Given the description of an element on the screen output the (x, y) to click on. 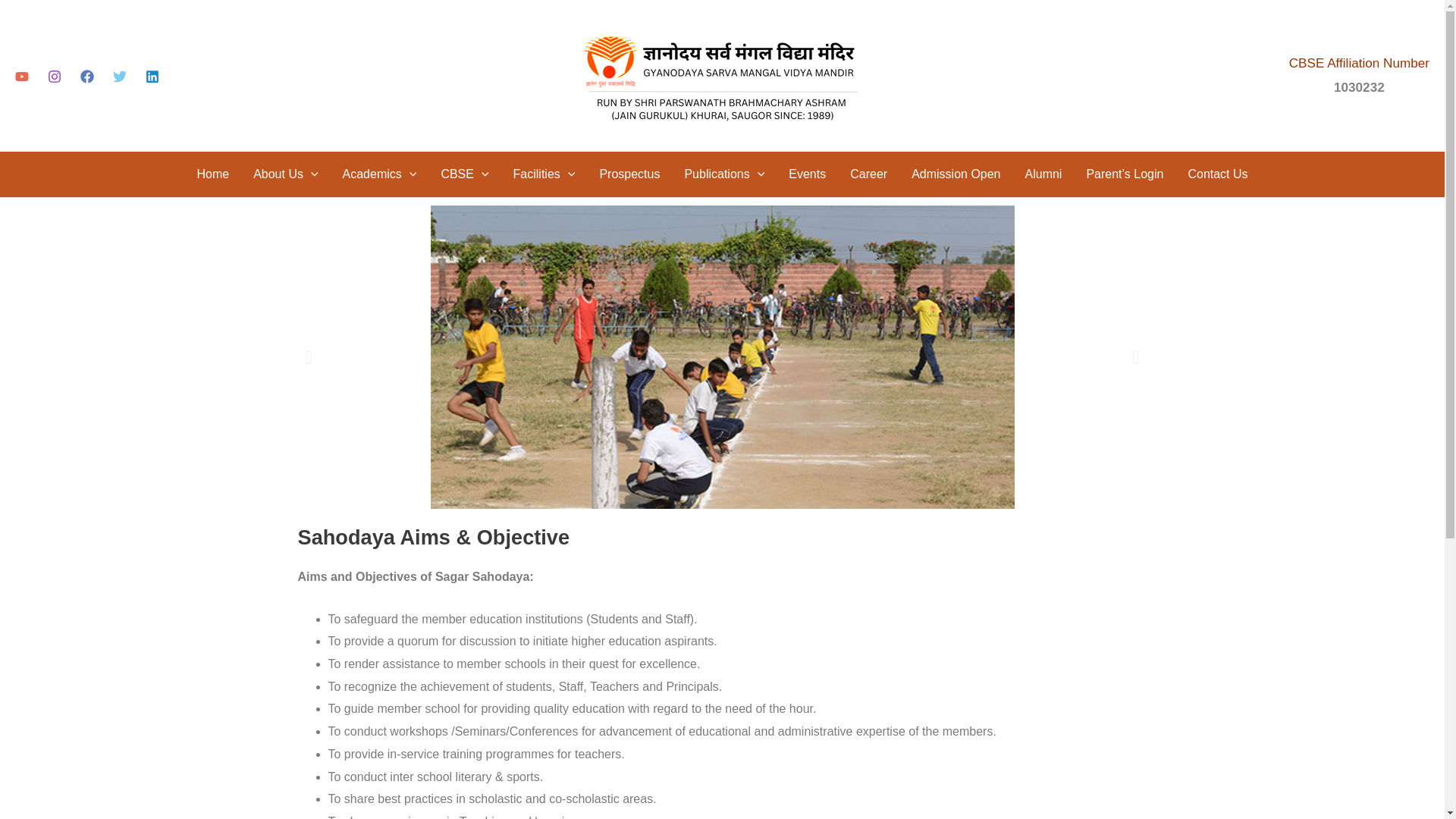
Facilities (544, 174)
CBSE (464, 174)
About Us (285, 174)
Home (212, 174)
Academics (379, 174)
